Given the description of an element on the screen output the (x, y) to click on. 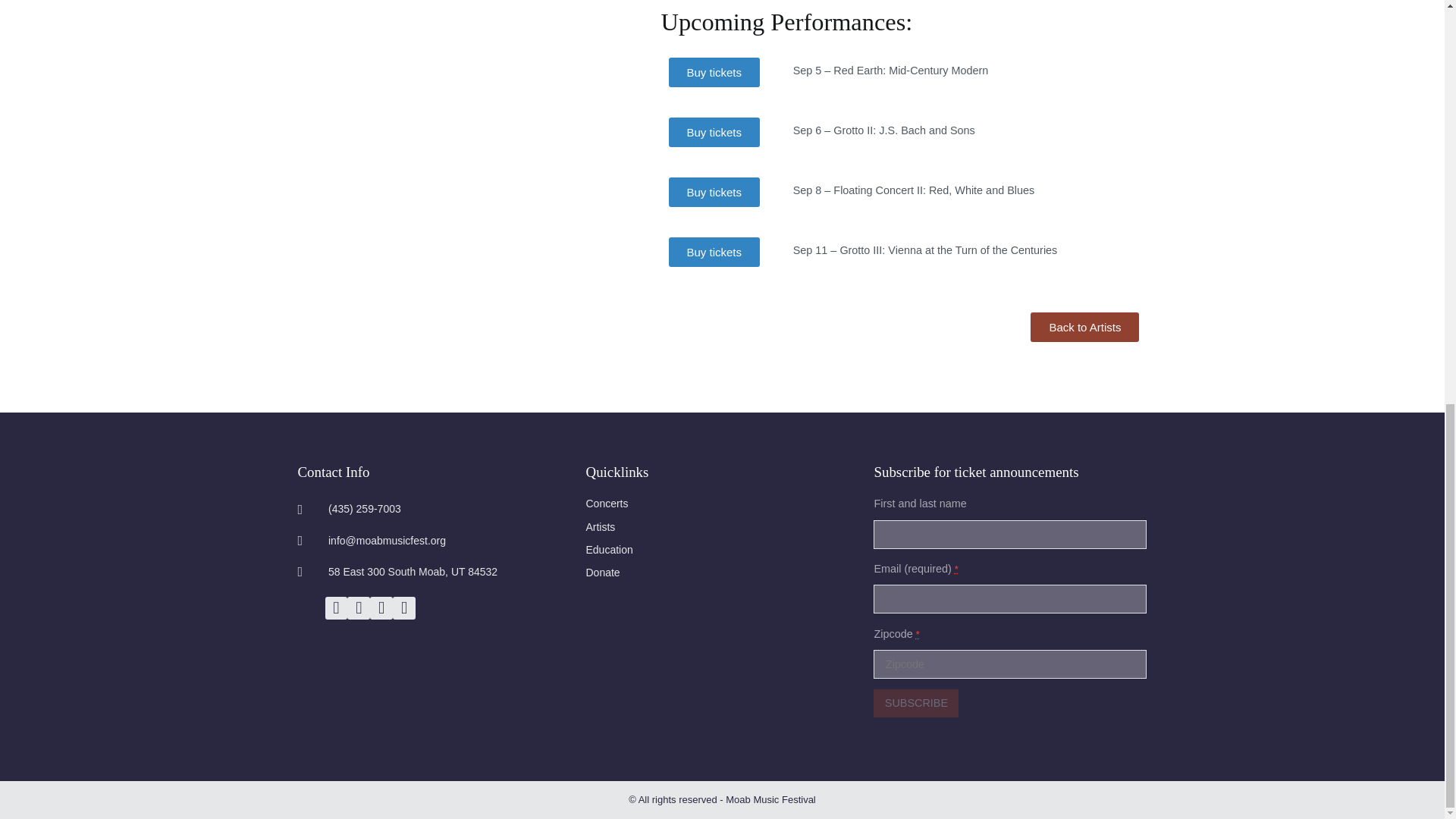
SUBSCRIBE (915, 702)
